Given the description of an element on the screen output the (x, y) to click on. 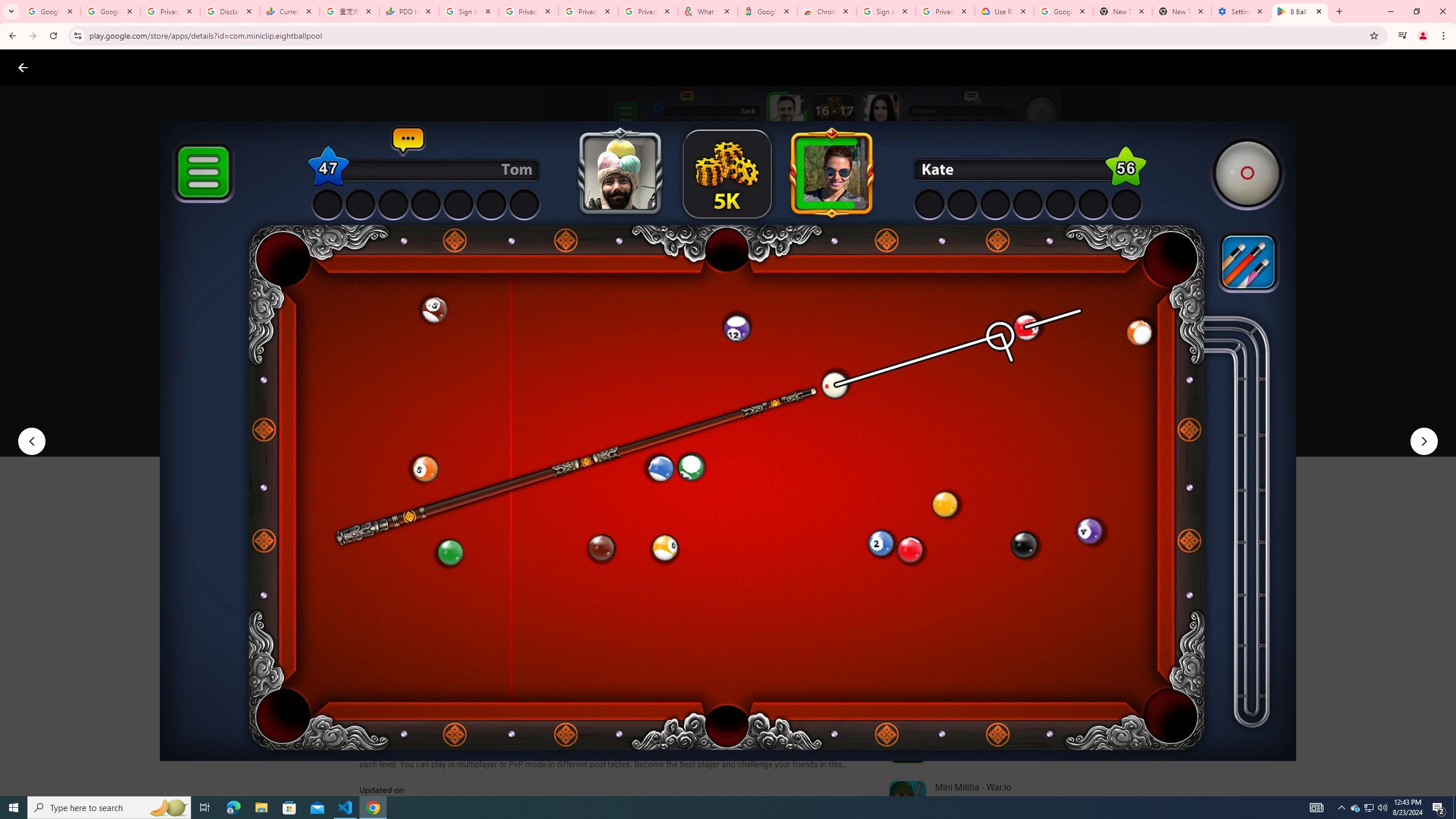
Kids (219, 67)
Open account menu (1436, 67)
Help Center (1409, 67)
Chrome Web Store - Color themes by Chrome (826, 11)
PDD Holdings Inc - ADR (PDD) Price & News - Google Finance (409, 11)
Install (416, 423)
Play trailer (1062, 423)
